Given the description of an element on the screen output the (x, y) to click on. 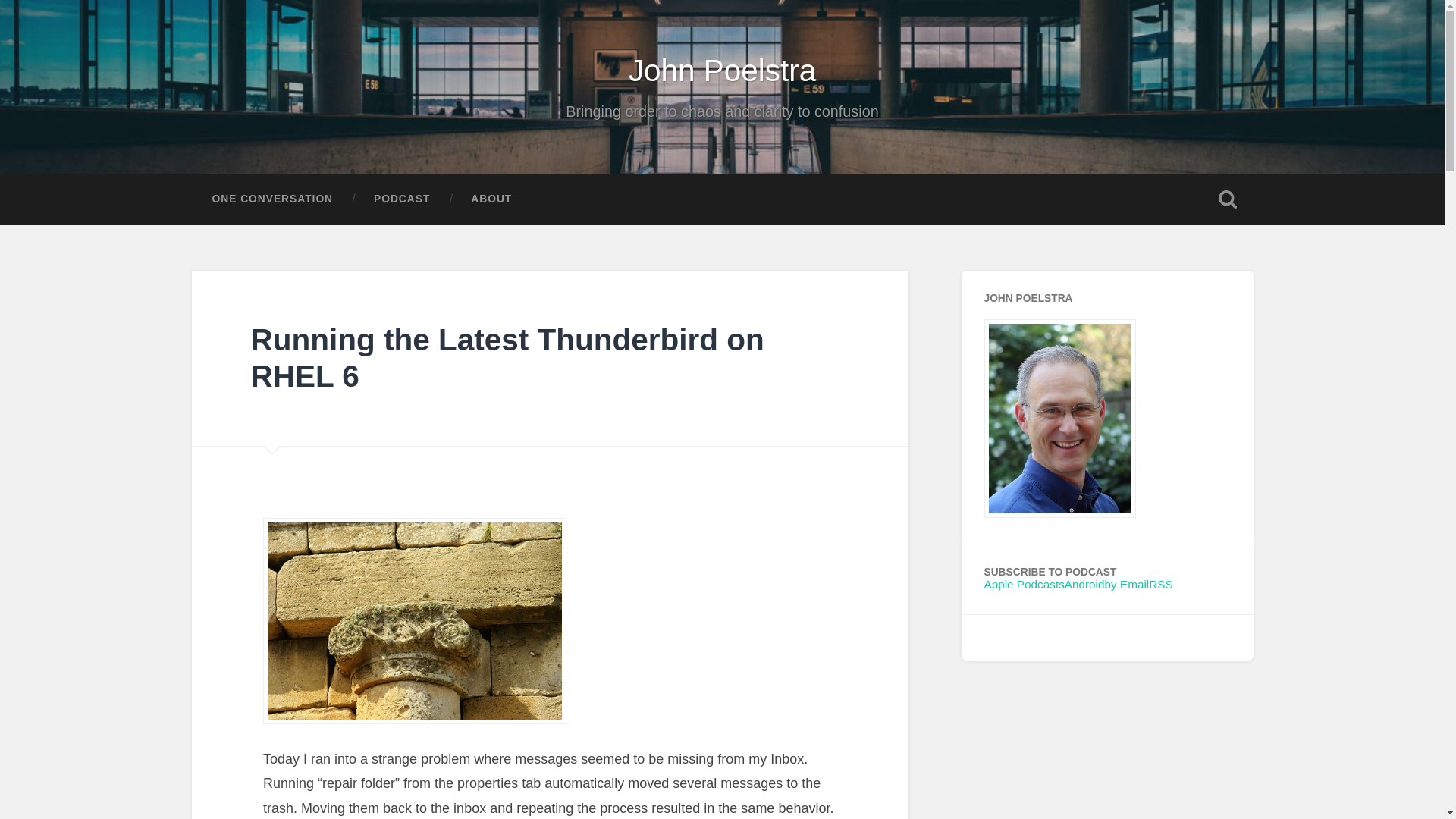
John Poelstra (1059, 513)
ONE CONVERSATION (271, 199)
Running the Latest Thunderbird on RHEL 6 (506, 357)
John Poelstra (722, 70)
Subscribe on Android (1084, 584)
Subscribe on Apple Podcasts (1024, 584)
Subscribe via RSS (1160, 584)
Coulmn (414, 620)
Subscribe by Email (1127, 584)
PODCAST (401, 199)
